Given the description of an element on the screen output the (x, y) to click on. 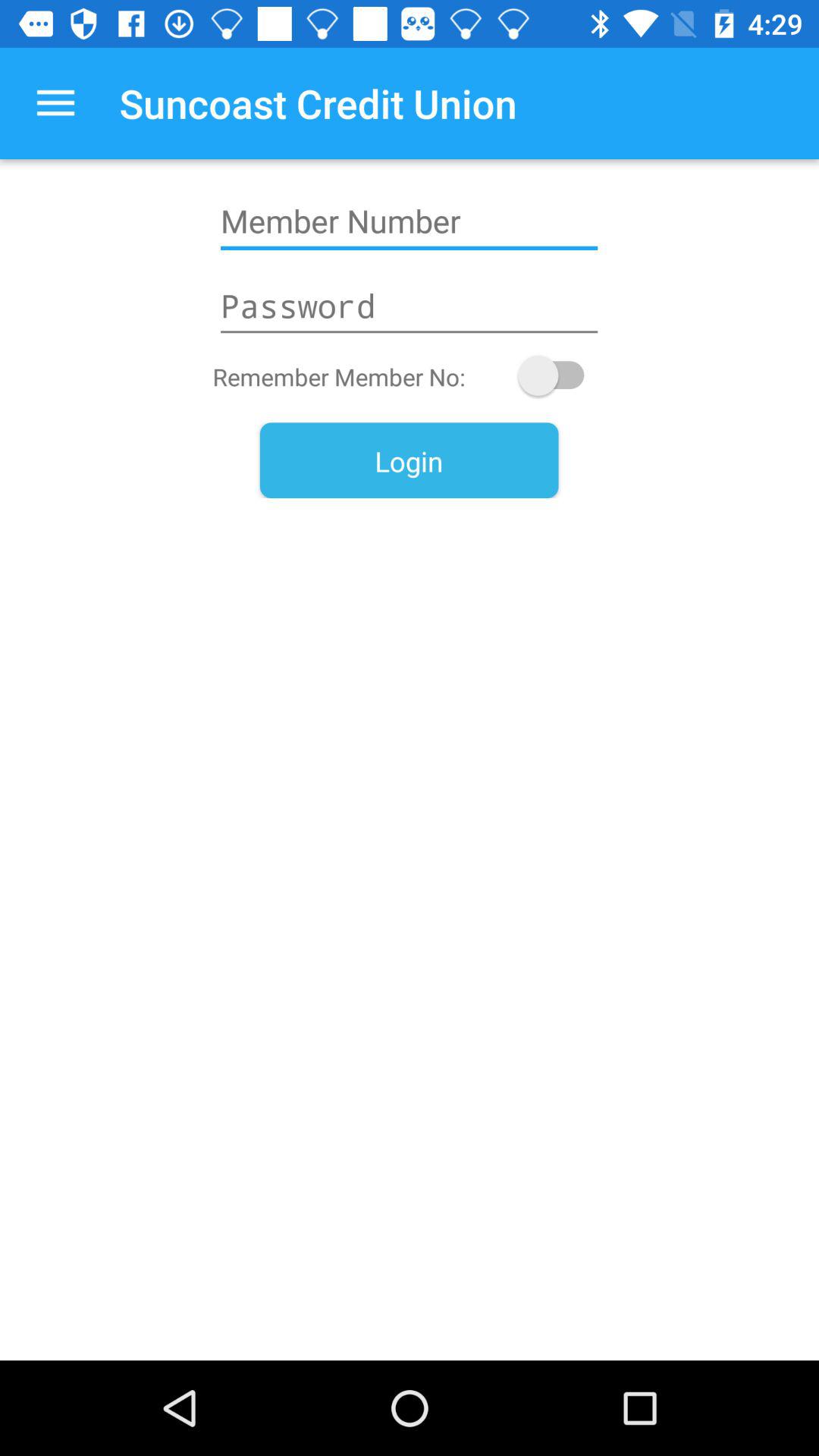
press item next to remember member no: icon (558, 375)
